Given the description of an element on the screen output the (x, y) to click on. 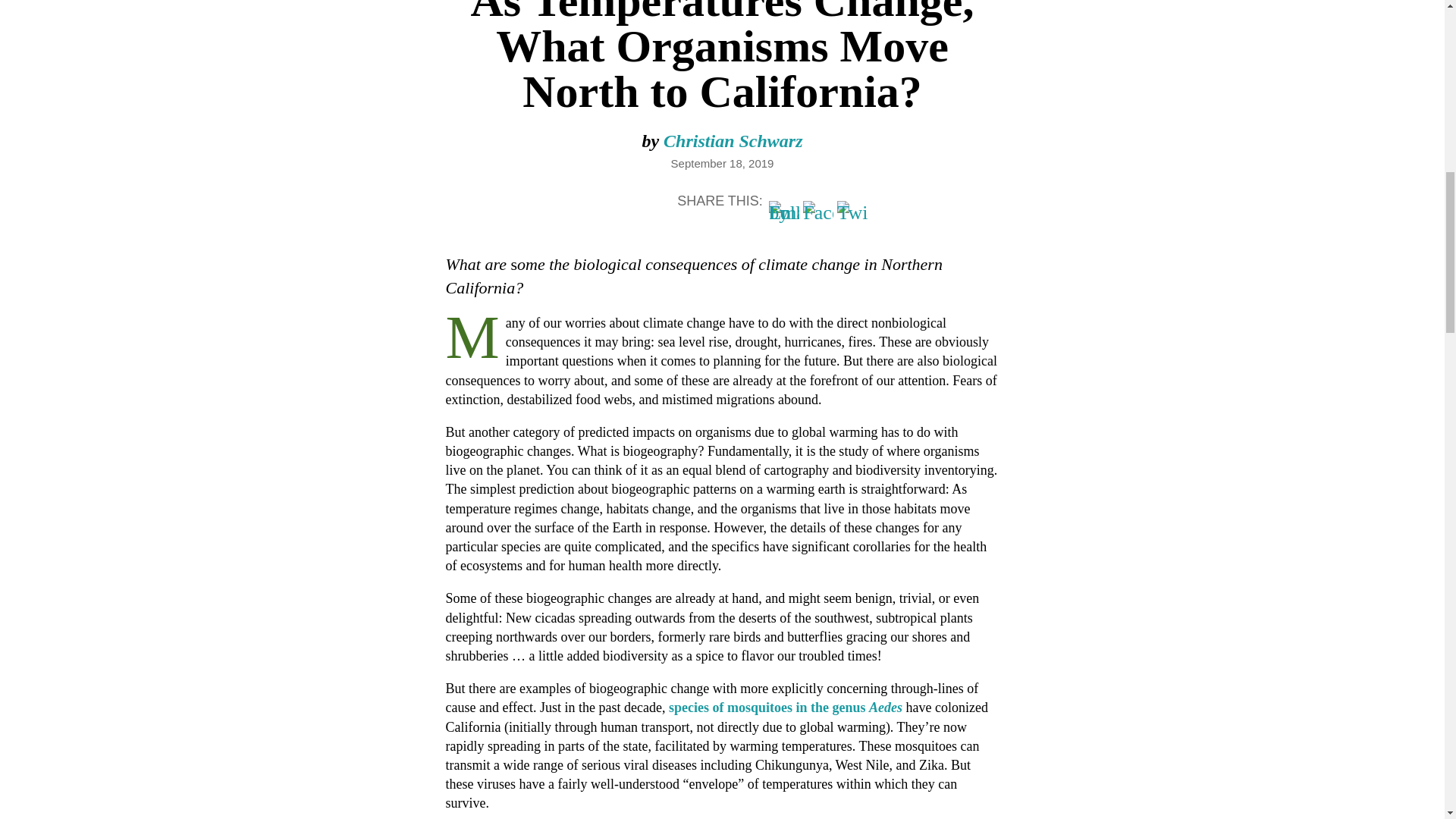
Follow by Email (783, 215)
Twitter (852, 215)
species of mosquitoes in the genus (768, 707)
Facebook (817, 215)
Aedes (885, 707)
Posts by Christian Schwarz (732, 140)
Christian Schwarz (732, 140)
